Given the description of an element on the screen output the (x, y) to click on. 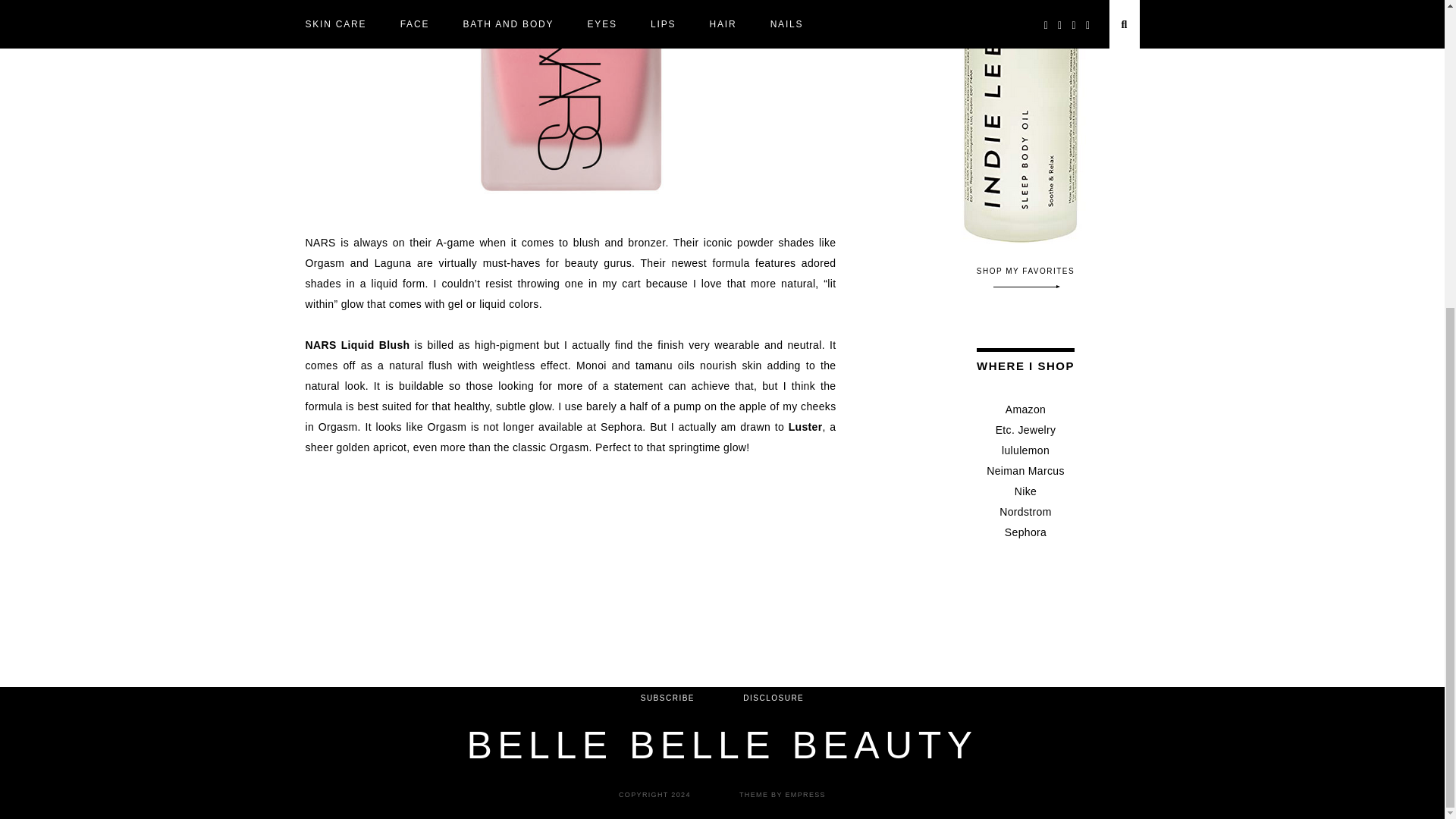
Nordstrom (1024, 511)
Neiman Marcus (1025, 470)
Sephora (1025, 532)
Nike (1025, 491)
NARS Liquid Blush on Belle Belle Beauty (569, 106)
lululemon (1025, 450)
BELLE BELLE BEAUTY (720, 744)
DISCLOSURE (772, 697)
Amazon (1025, 409)
THEME BY EMPRESS (782, 794)
Etc. Jewelry (1026, 429)
SHOP MY FAVORITES (1026, 276)
Luster (805, 426)
NARS Liquid Blush (356, 345)
SUBSCRIBE (667, 697)
